Given the description of an element on the screen output the (x, y) to click on. 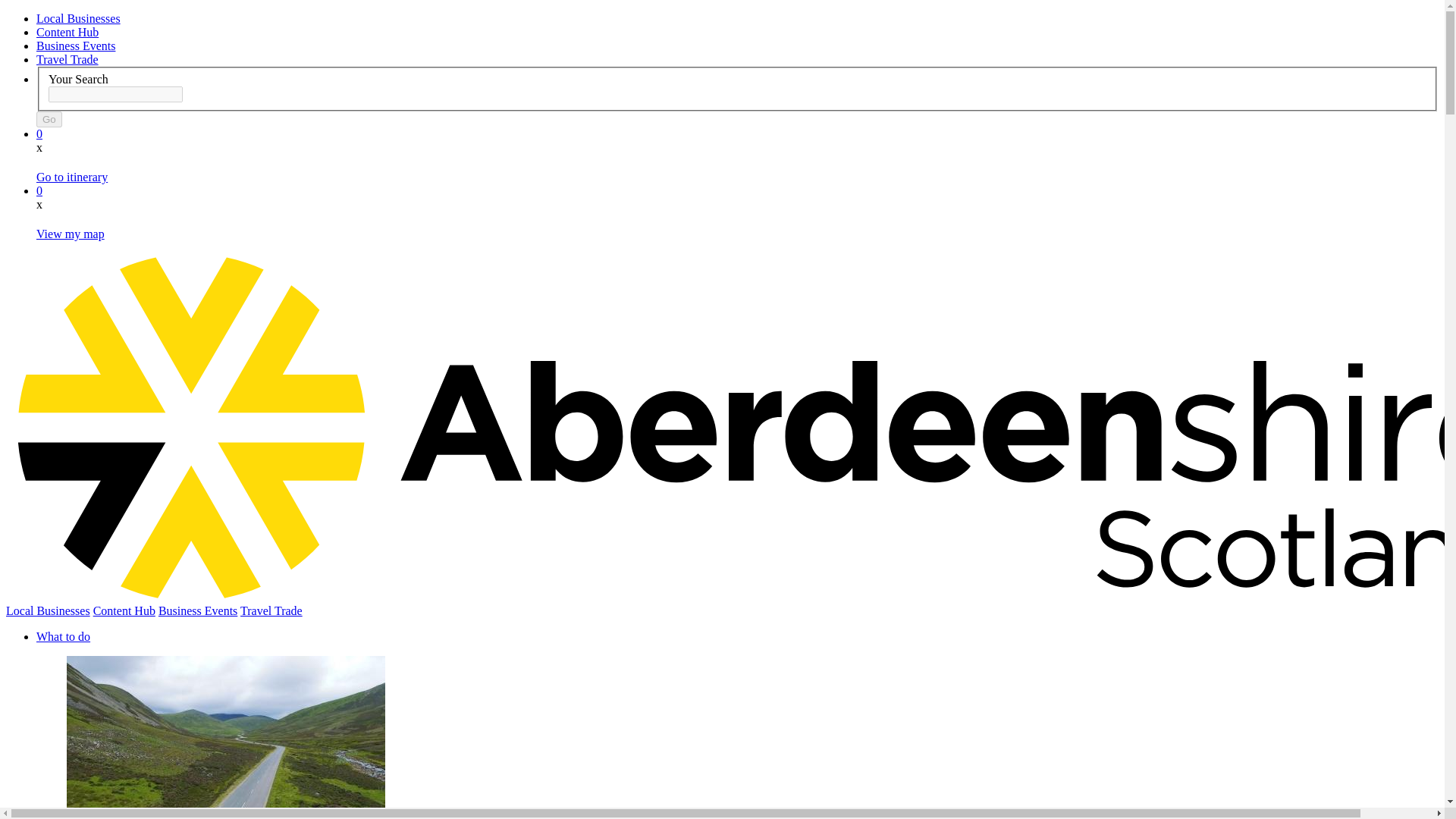
What to do (63, 635)
Content Hub (124, 610)
Business Events (197, 610)
Go (49, 119)
Business Events (75, 45)
Travel Trade (271, 610)
Travel Trade (67, 59)
Local Businesses (47, 610)
View my map (70, 233)
Go (49, 119)
